Given the description of an element on the screen output the (x, y) to click on. 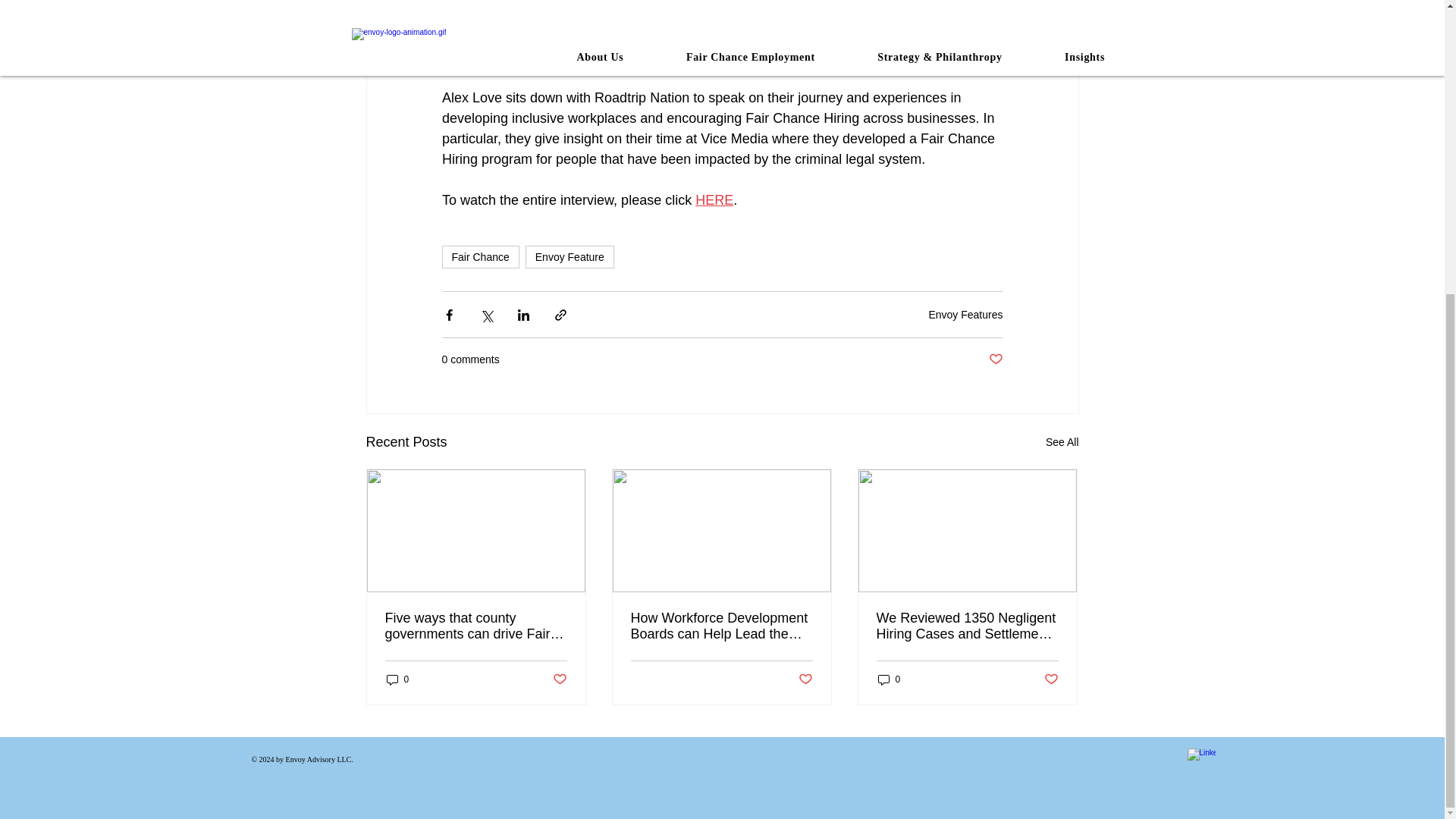
Post not marked as liked (804, 679)
0 (397, 678)
See All (1061, 442)
HERE (714, 200)
Post not marked as liked (558, 679)
Fair Chance (479, 256)
Post not marked as liked (1050, 679)
Envoy Features (965, 313)
Envoy Feature (569, 256)
Post not marked as liked (995, 359)
0 (889, 678)
